Given the description of an element on the screen output the (x, y) to click on. 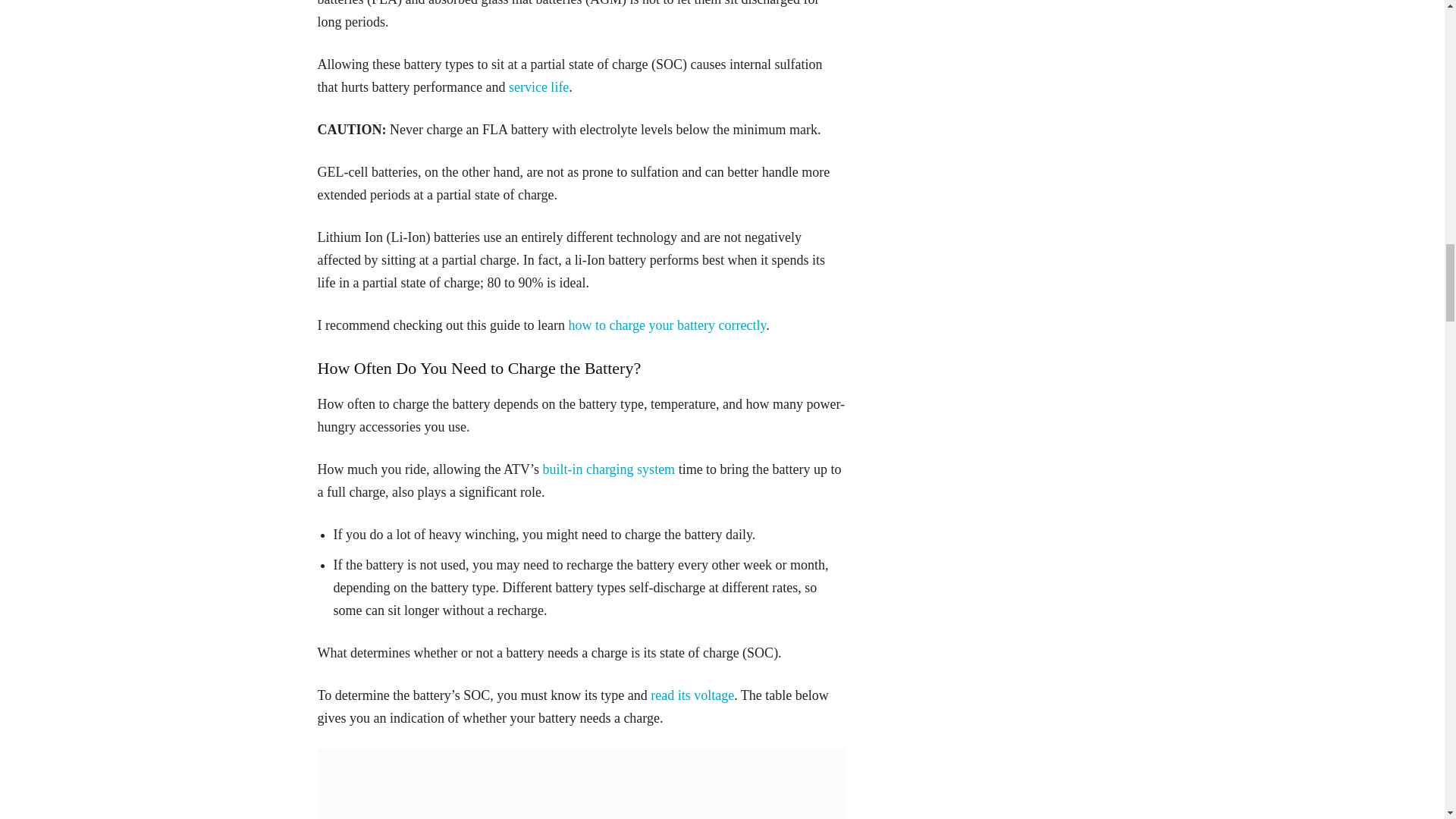
How Long Do ATV Batteries Last in Real-World Conditions? (538, 87)
service life (538, 87)
read its voltage (691, 694)
How does an ATV charge its battery? (608, 468)
built-in charging system (608, 468)
how to charge your battery correctly (666, 324)
